Given the description of an element on the screen output the (x, y) to click on. 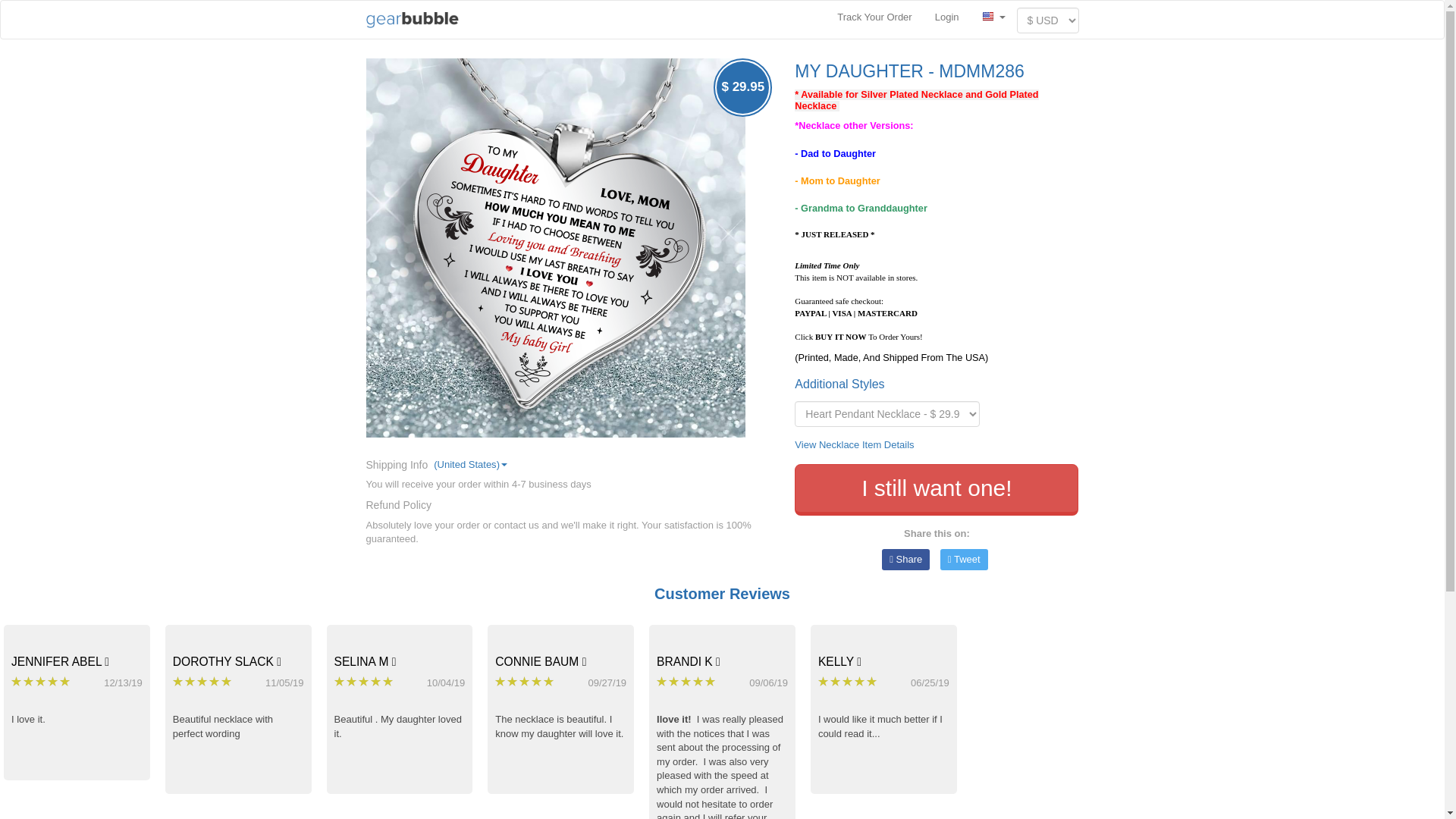
5 (525, 682)
View Necklace Item Details (854, 444)
Login (947, 16)
 Share (906, 559)
5 (364, 682)
- Dad to Daughter (835, 153)
5 (202, 682)
 Tweet (964, 559)
5 (686, 682)
- Grandma to Granddaughter (860, 207)
I still want one! (936, 490)
5 (41, 682)
- Mom to Daughter (836, 180)
Track Your Order (874, 16)
